Given the description of an element on the screen output the (x, y) to click on. 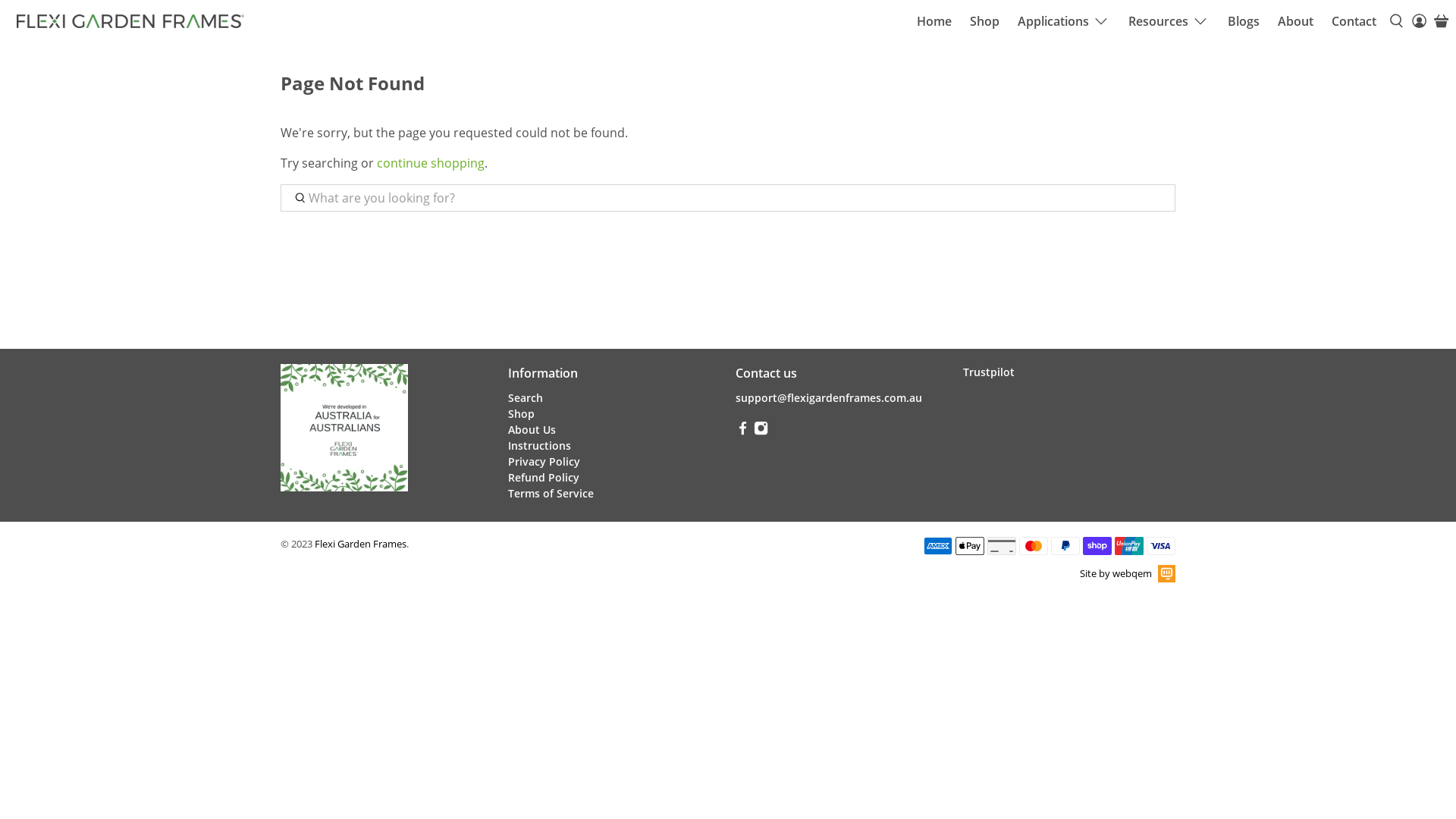
Shop Element type: text (521, 413)
Contact Element type: text (1353, 21)
Shop Element type: text (984, 21)
Applications Element type: text (1063, 21)
Home Element type: text (933, 21)
support@flexigardenframes.com.au Element type: text (828, 397)
Flexi Garden Frames Element type: hover (343, 435)
Flexi Garden Frames on Facebook Element type: hover (742, 430)
Search Element type: text (525, 397)
About Us Element type: text (531, 429)
Flexi Garden Frames Element type: text (360, 543)
About Element type: text (1295, 21)
Flexi Garden Frames on Instagram Element type: hover (760, 430)
Trustpilot Element type: text (988, 371)
Flexi Garden Frames Element type: hover (130, 21)
Resources Element type: text (1168, 21)
continue shopping Element type: text (430, 162)
Blogs Element type: text (1243, 21)
Terms of Service Element type: text (550, 493)
Instructions Element type: text (539, 445)
Refund Policy Element type: text (543, 477)
Privacy Policy Element type: text (544, 461)
Site by webqem Element type: text (1127, 573)
